Given the description of an element on the screen output the (x, y) to click on. 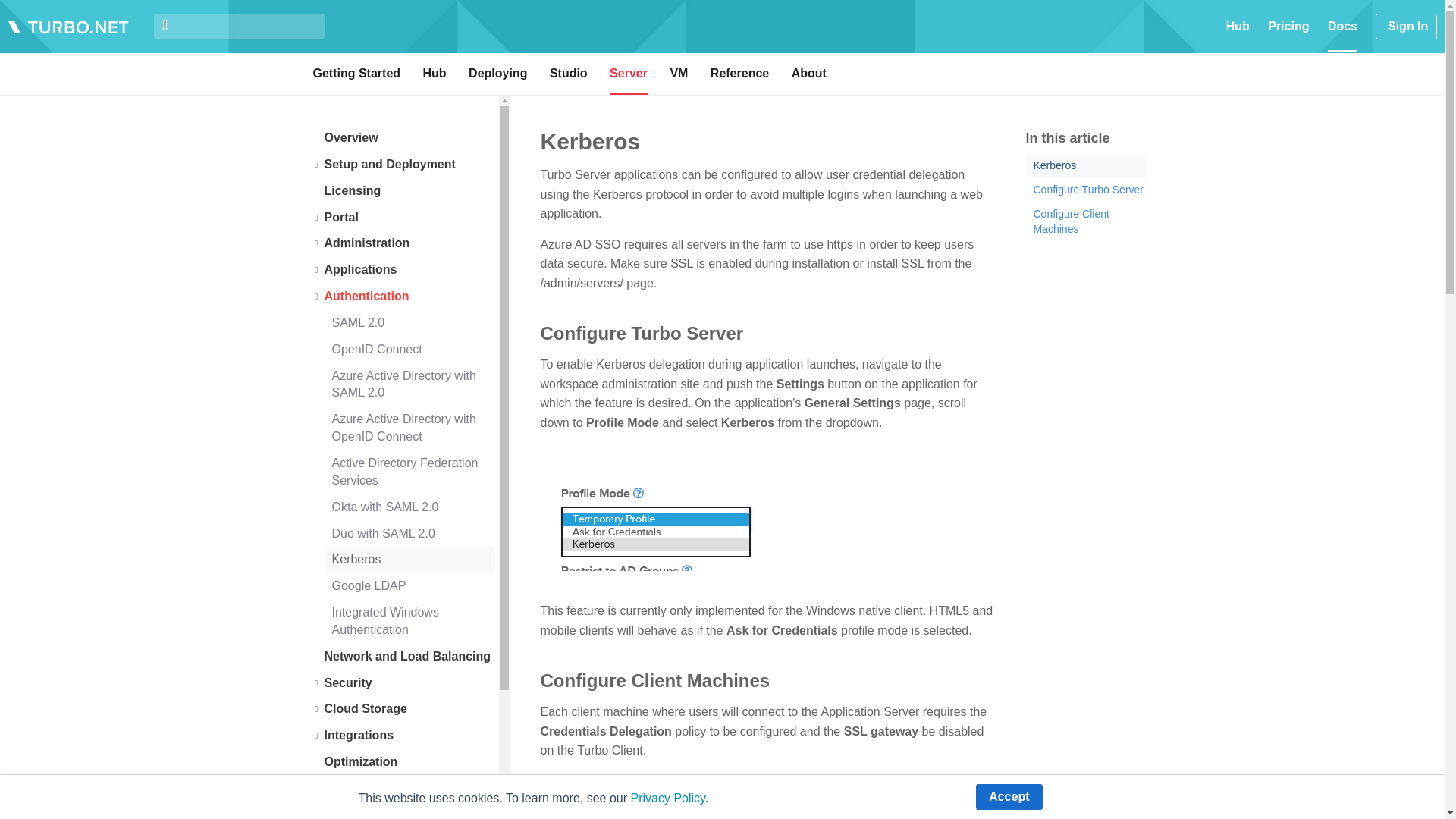
Pricing (1288, 25)
Privacy Policy (667, 797)
Docs (1341, 35)
Accept (1008, 796)
Sign In (1406, 26)
Hub (1237, 25)
